Given the description of an element on the screen output the (x, y) to click on. 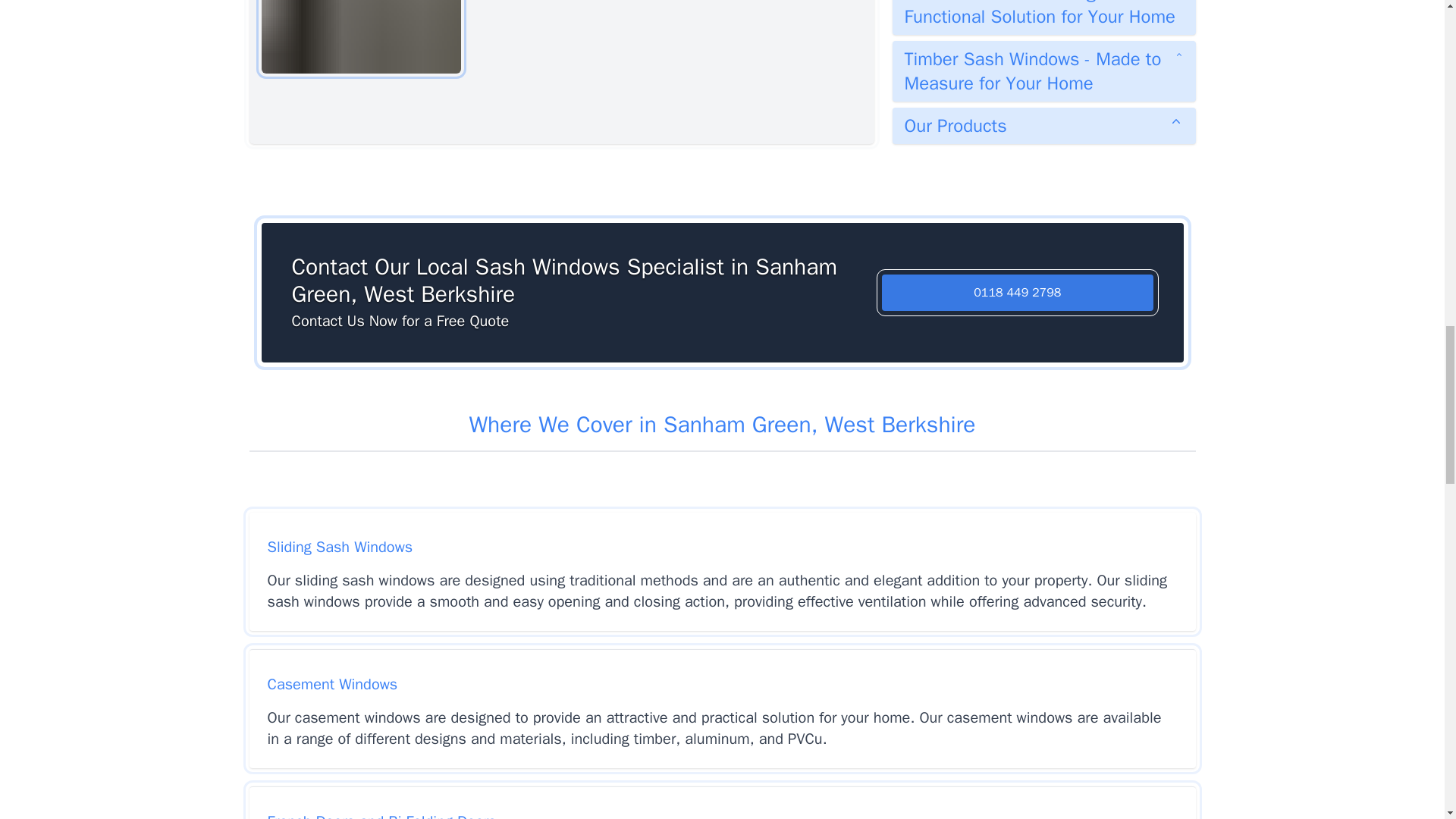
0118 449 2798 (1017, 292)
Timber Sash Windows - Made to Measure for Your Home (1043, 70)
Our Products (1043, 125)
